Given the description of an element on the screen output the (x, y) to click on. 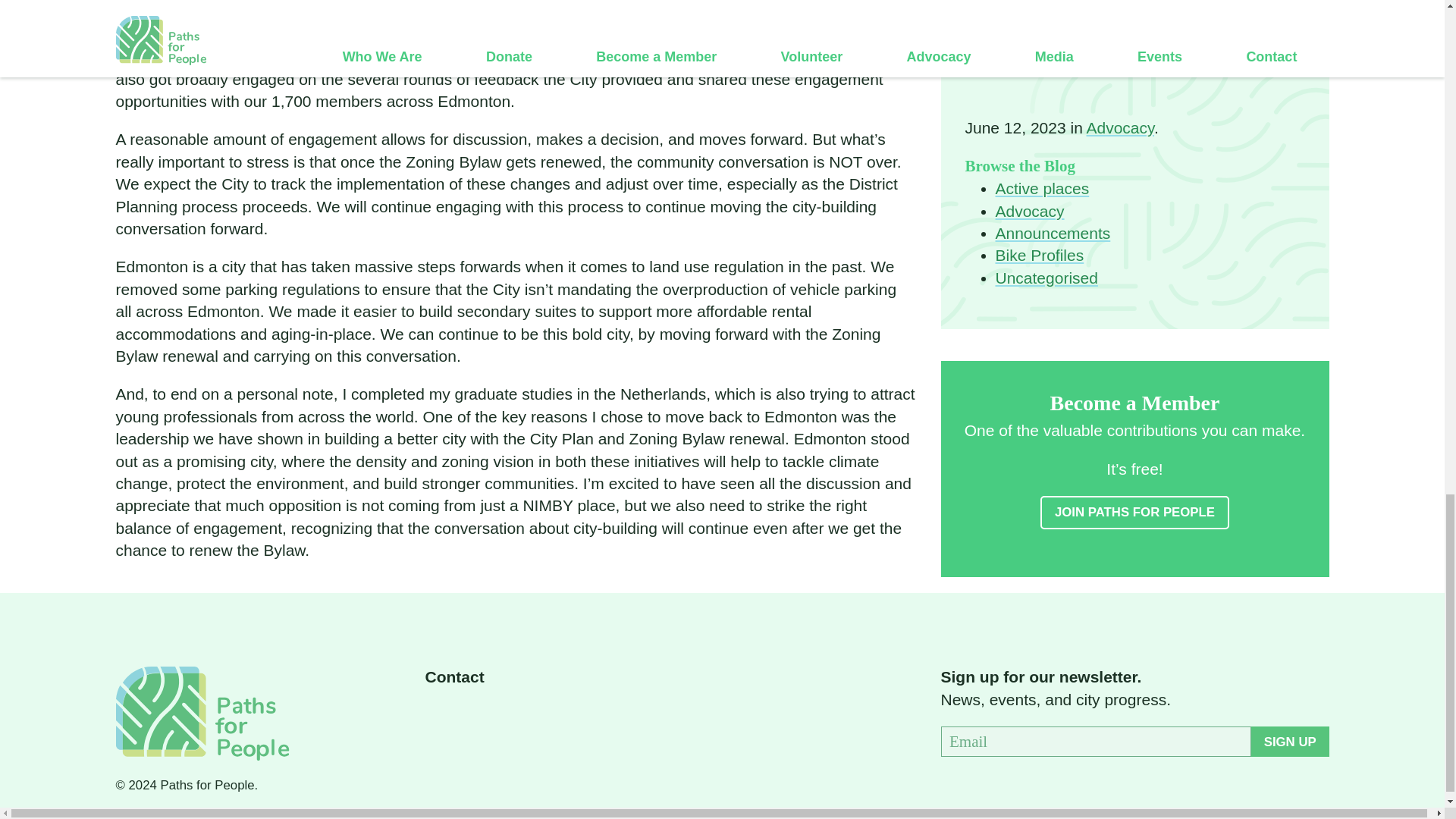
Paths for People (202, 712)
Contact (454, 676)
Twitter (475, 715)
Facebook (435, 715)
SIGN UP (1289, 741)
LinkedIn (552, 715)
Instagram (513, 715)
